Given the description of an element on the screen output the (x, y) to click on. 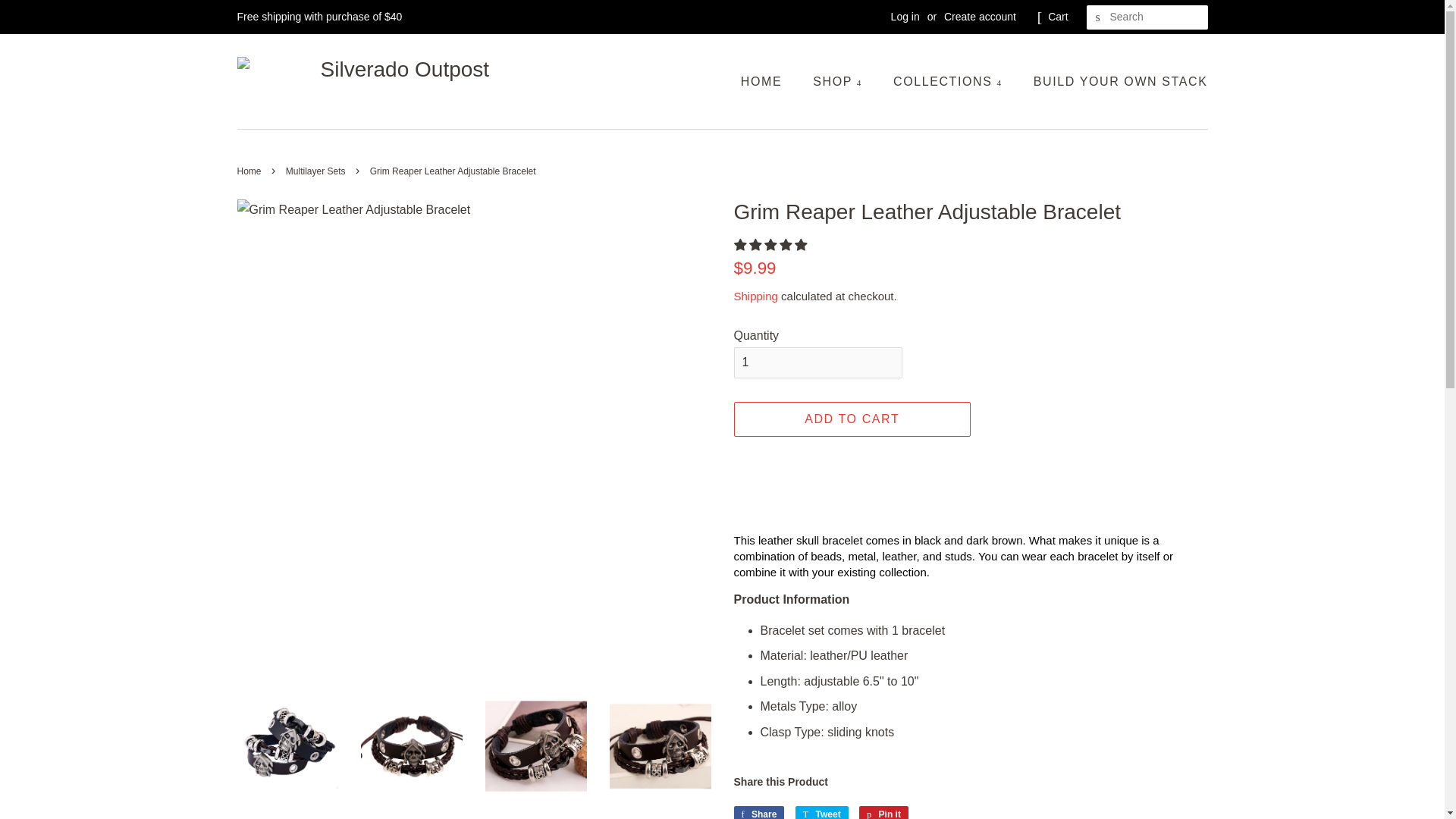
HOME (768, 81)
Tweet on Twitter (821, 812)
Create account (979, 16)
Share on Facebook (758, 812)
Back to the frontpage (249, 171)
Cart (1057, 17)
Log in (905, 16)
Pin on Pinterest (883, 812)
SEARCH (1097, 17)
SHOP (839, 81)
1 (817, 362)
